Given the description of an element on the screen output the (x, y) to click on. 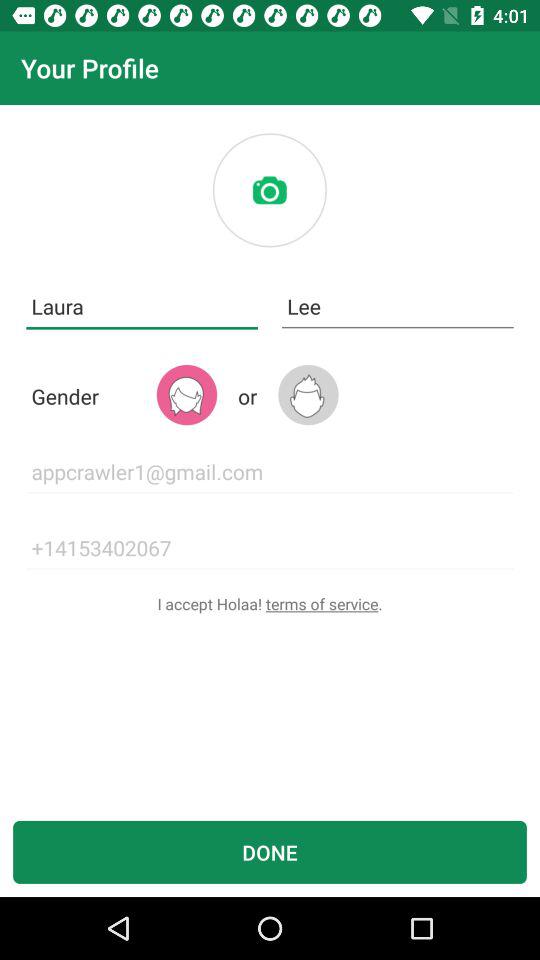
click item next to or icon (308, 394)
